Given the description of an element on the screen output the (x, y) to click on. 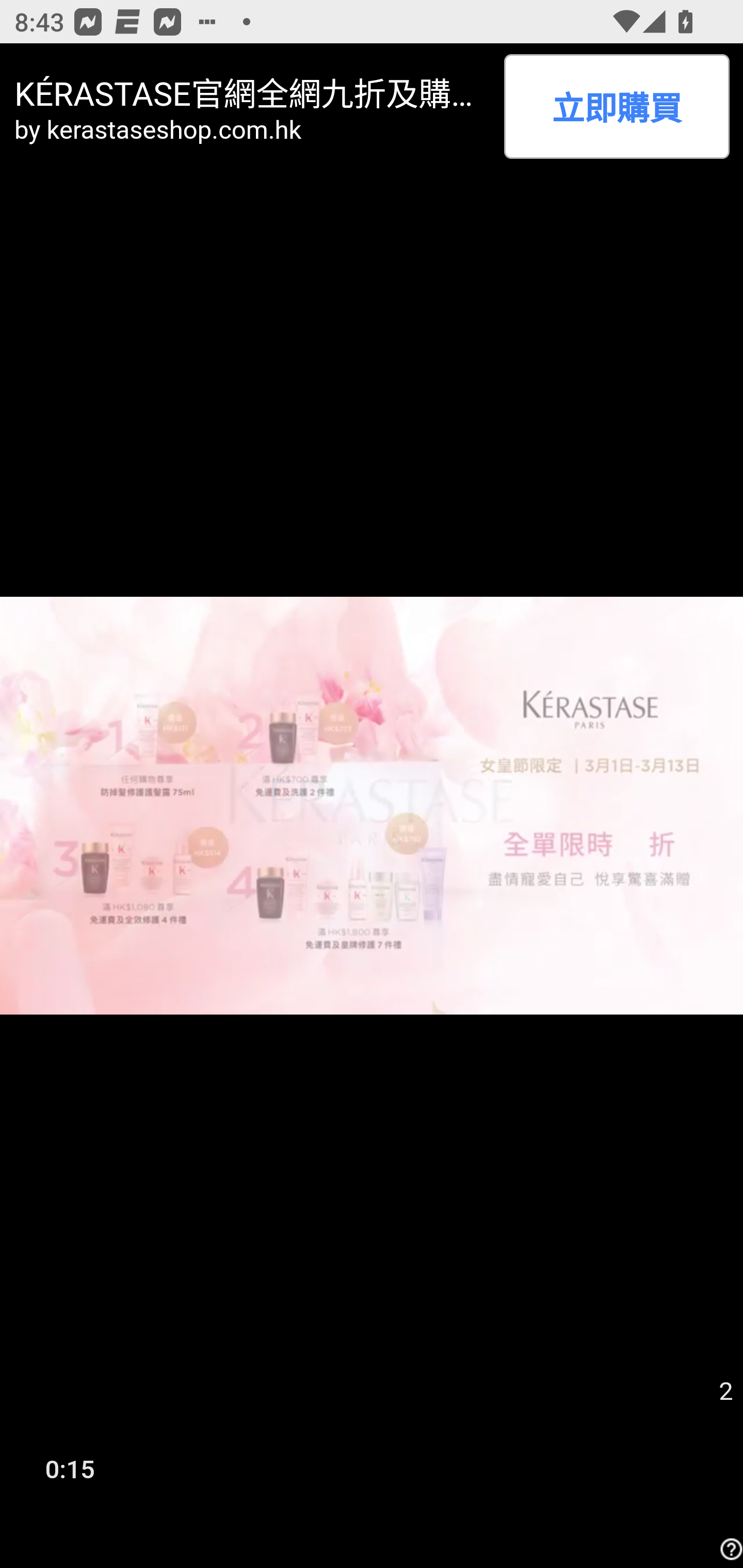
立即購買 (616, 106)
KÉRASTASE官網全網九折及購物禮 (252, 90)
by kerastaseshop.com.hk (252, 128)
Skip Ad Countdown (725, 1391)
0:15 (70, 1468)
help_outline_white_24dp_with_3px_trbl_padding (728, 1548)
